Given the description of an element on the screen output the (x, y) to click on. 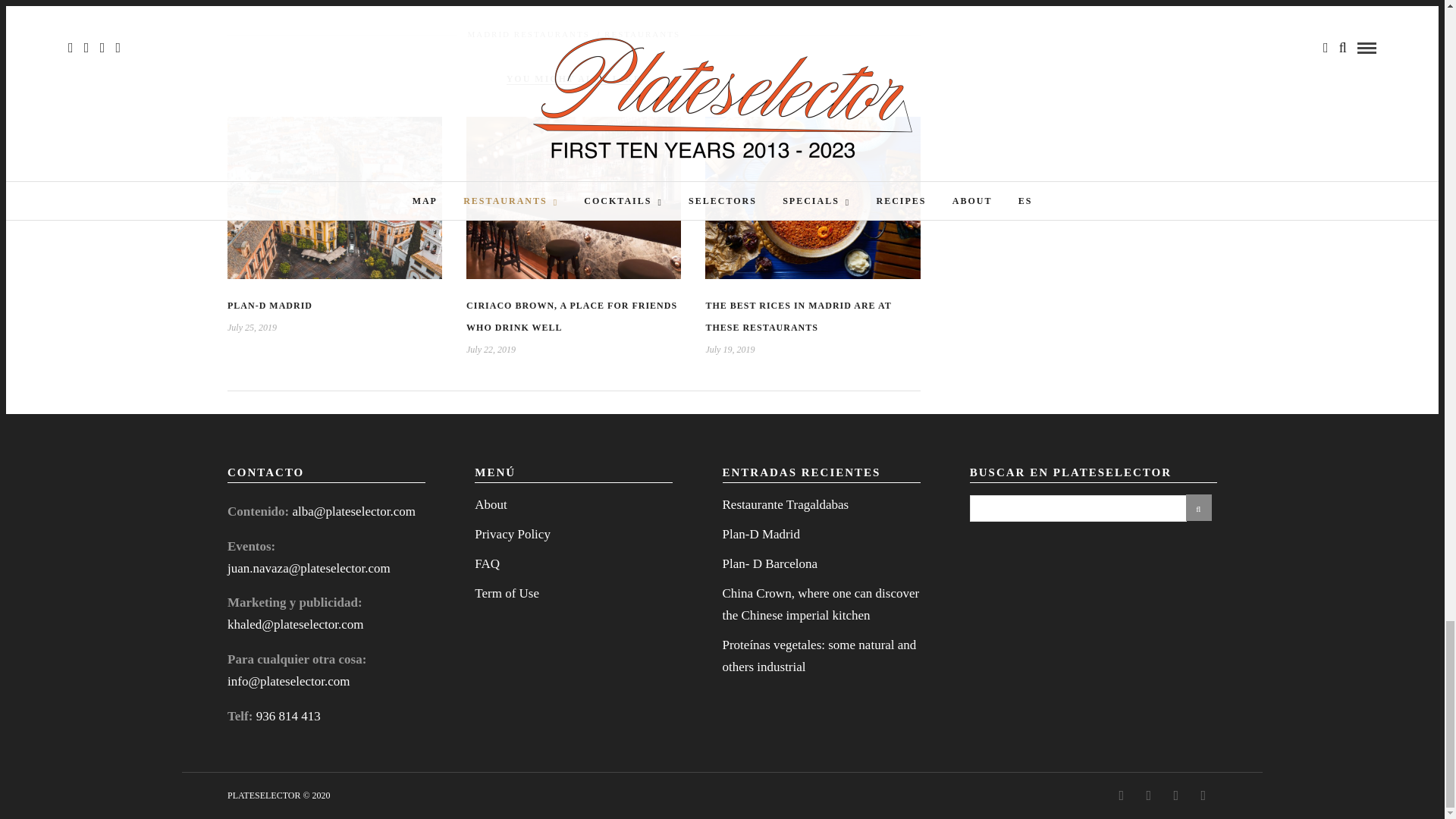
Ciriaco Brown, a place for friends who drink well (571, 316)
Youtube (1144, 795)
Plan-D Madrid (270, 305)
The best rices in Madrid are at these restaurants (797, 316)
Instagram (1118, 795)
